Given the description of an element on the screen output the (x, y) to click on. 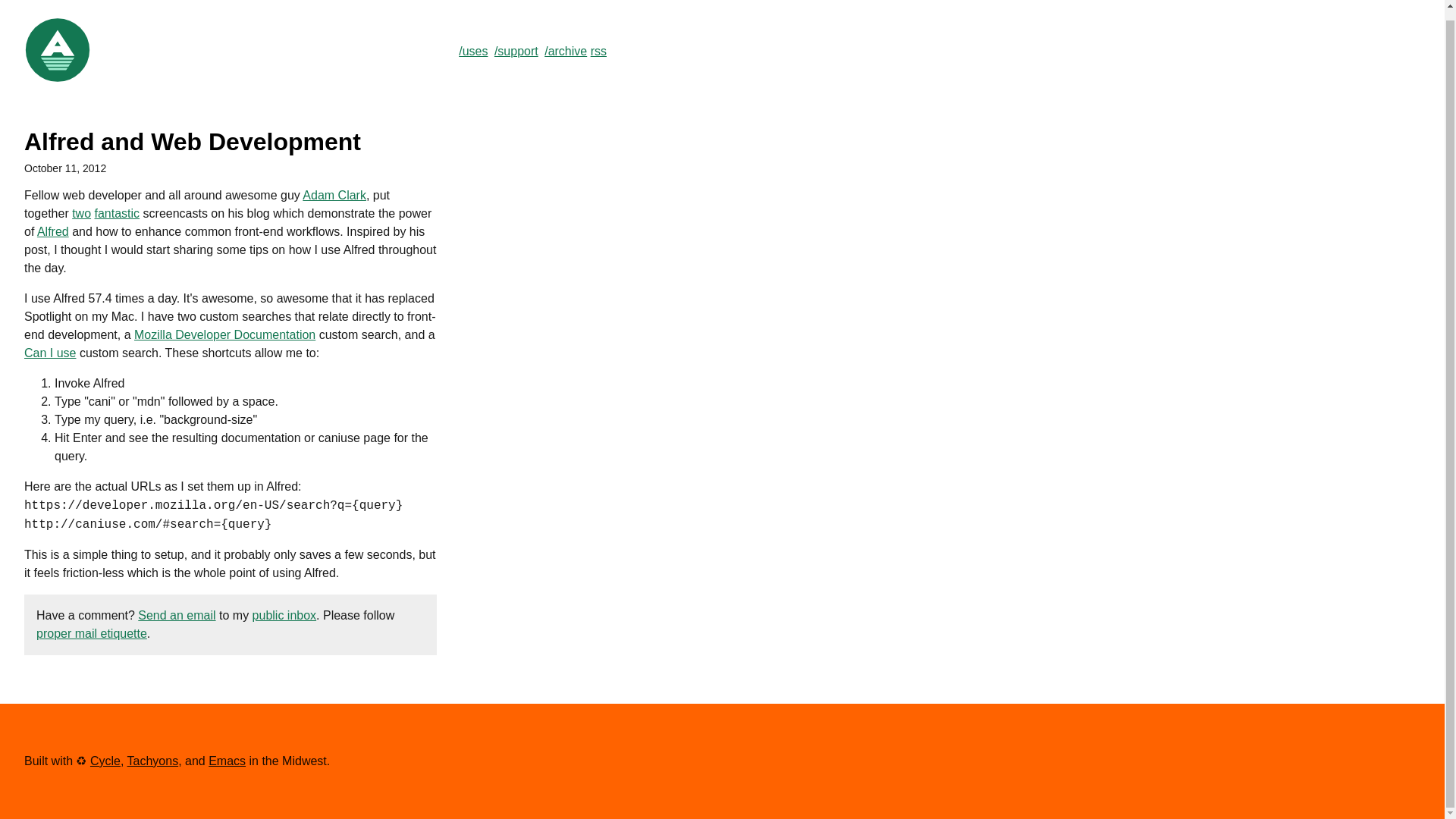
public inbox (284, 615)
proper mail etiquette (91, 633)
Alfred (52, 231)
Tachyons (153, 760)
Mozilla Developer Documentation (224, 334)
Adam Clark (334, 195)
Link to Home (57, 79)
rss (599, 51)
two (80, 213)
fantastic (116, 213)
